Given the description of an element on the screen output the (x, y) to click on. 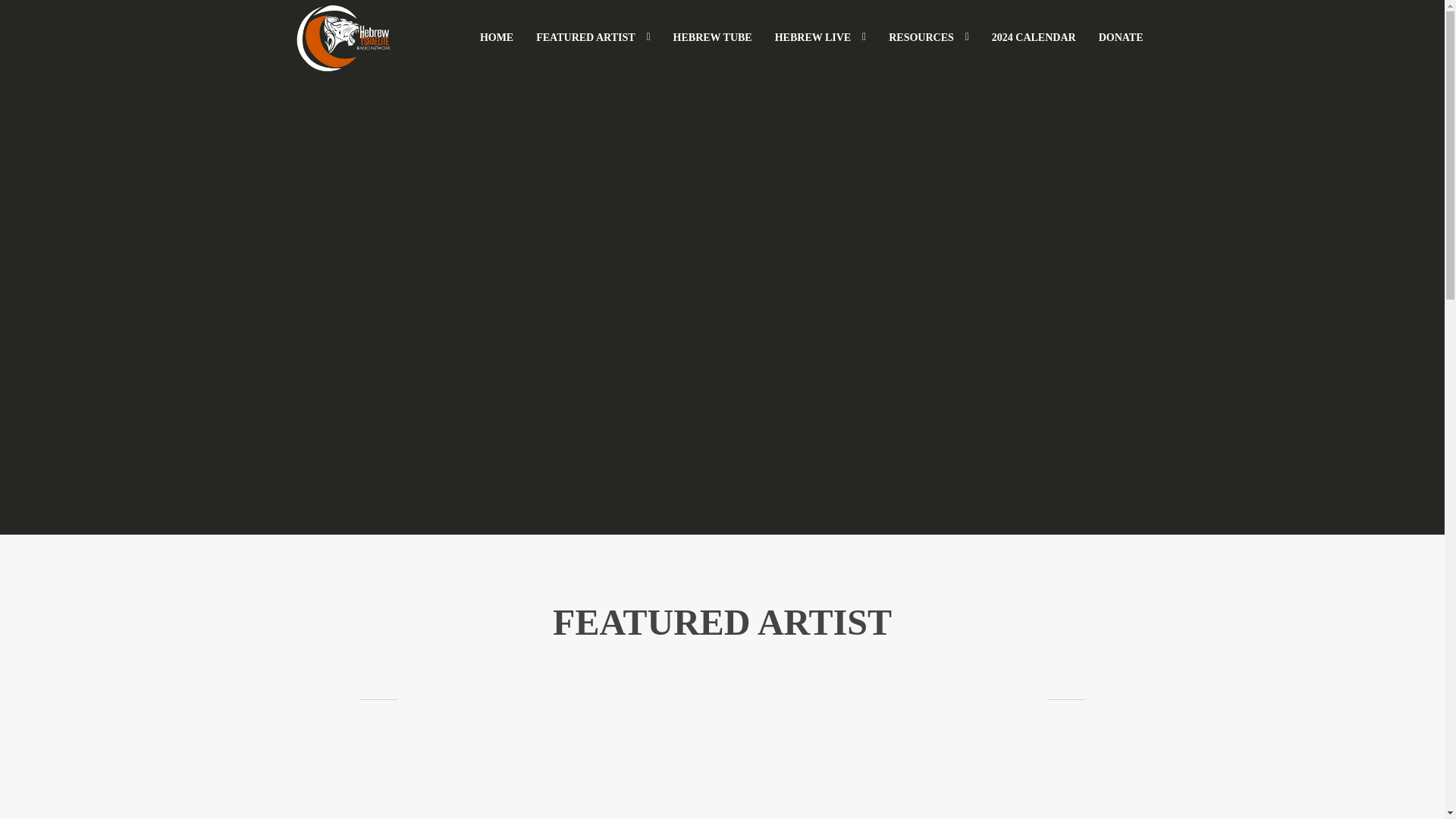
HEBREW LIVE (819, 38)
FEATURED ARTIST (592, 38)
HEBREW TUBE (712, 38)
